Given the description of an element on the screen output the (x, y) to click on. 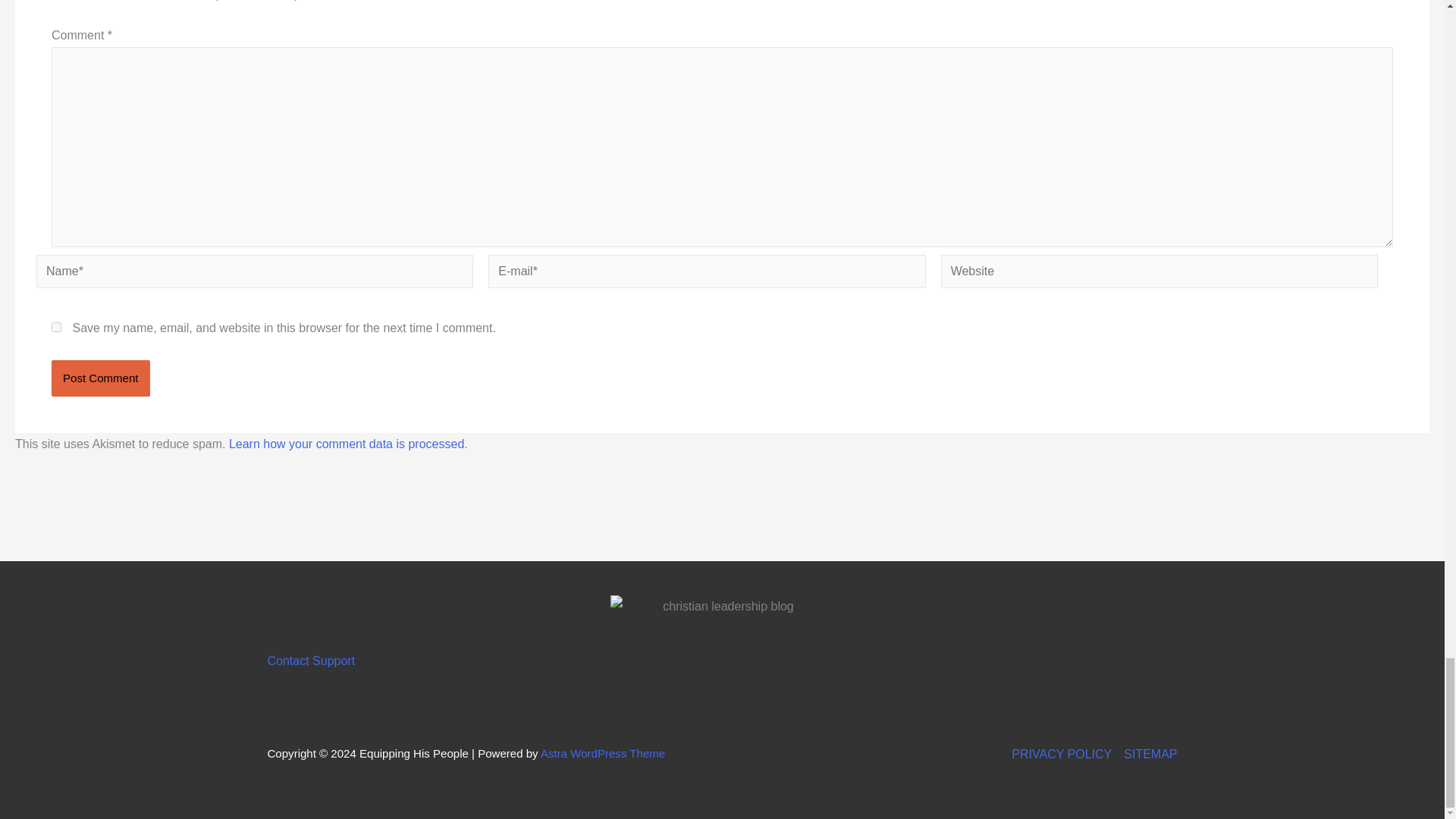
yes (55, 326)
Post Comment (99, 378)
